Given the description of an element on the screen output the (x, y) to click on. 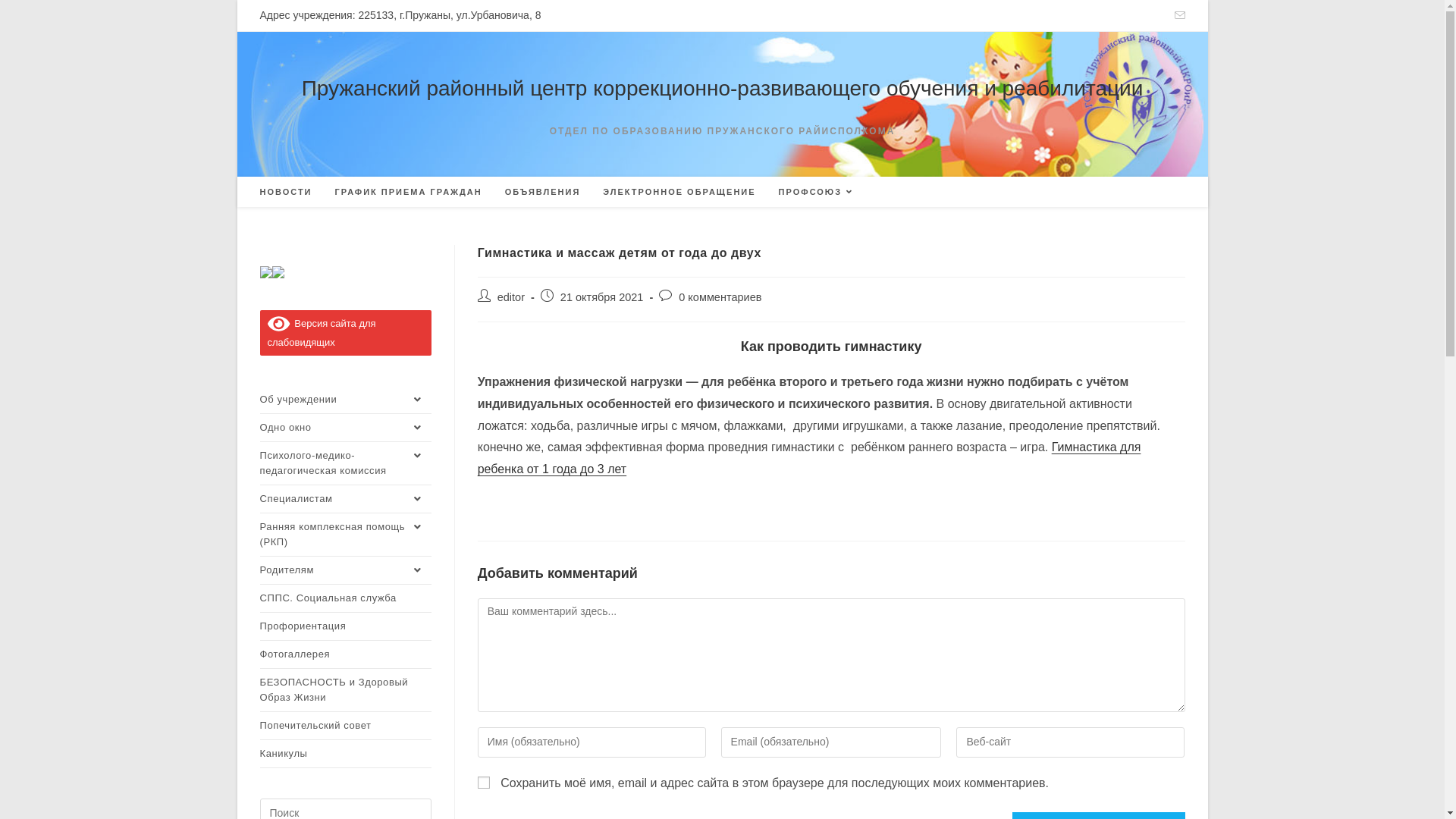
editor Element type: text (510, 297)
